Given the description of an element on the screen output the (x, y) to click on. 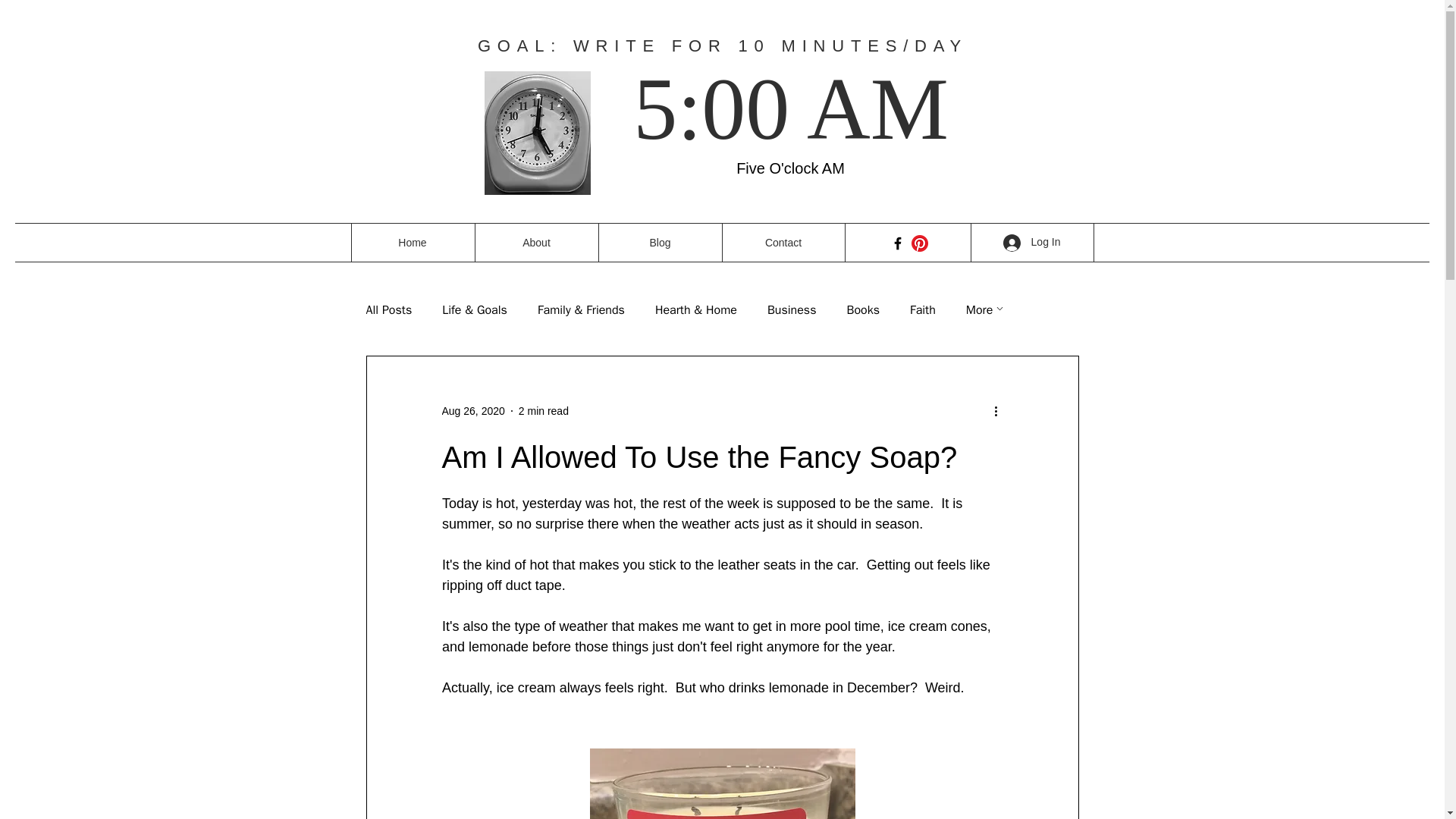
Home (412, 242)
All Posts (388, 309)
Books (862, 309)
Aug 26, 2020 (472, 410)
Business (791, 309)
2 min read (543, 410)
About (536, 242)
Blog (658, 242)
Contact (783, 242)
Faith (923, 309)
Log In (1031, 242)
